Given the description of an element on the screen output the (x, y) to click on. 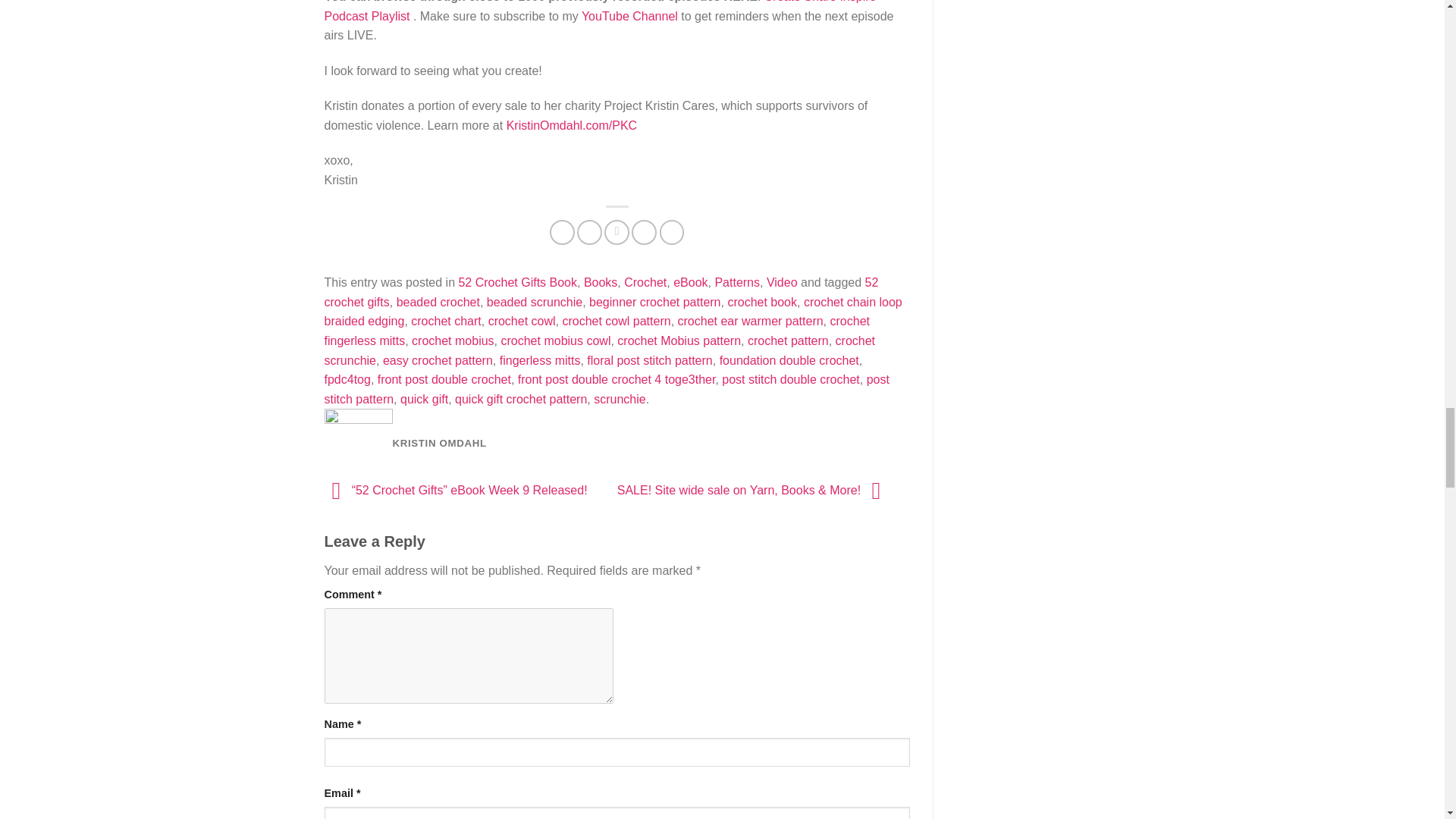
Share on Facebook (562, 232)
Share on LinkedIn (671, 232)
Share on Twitter (589, 232)
Email to a Friend (616, 232)
Pin on Pinterest (643, 232)
